Given the description of an element on the screen output the (x, y) to click on. 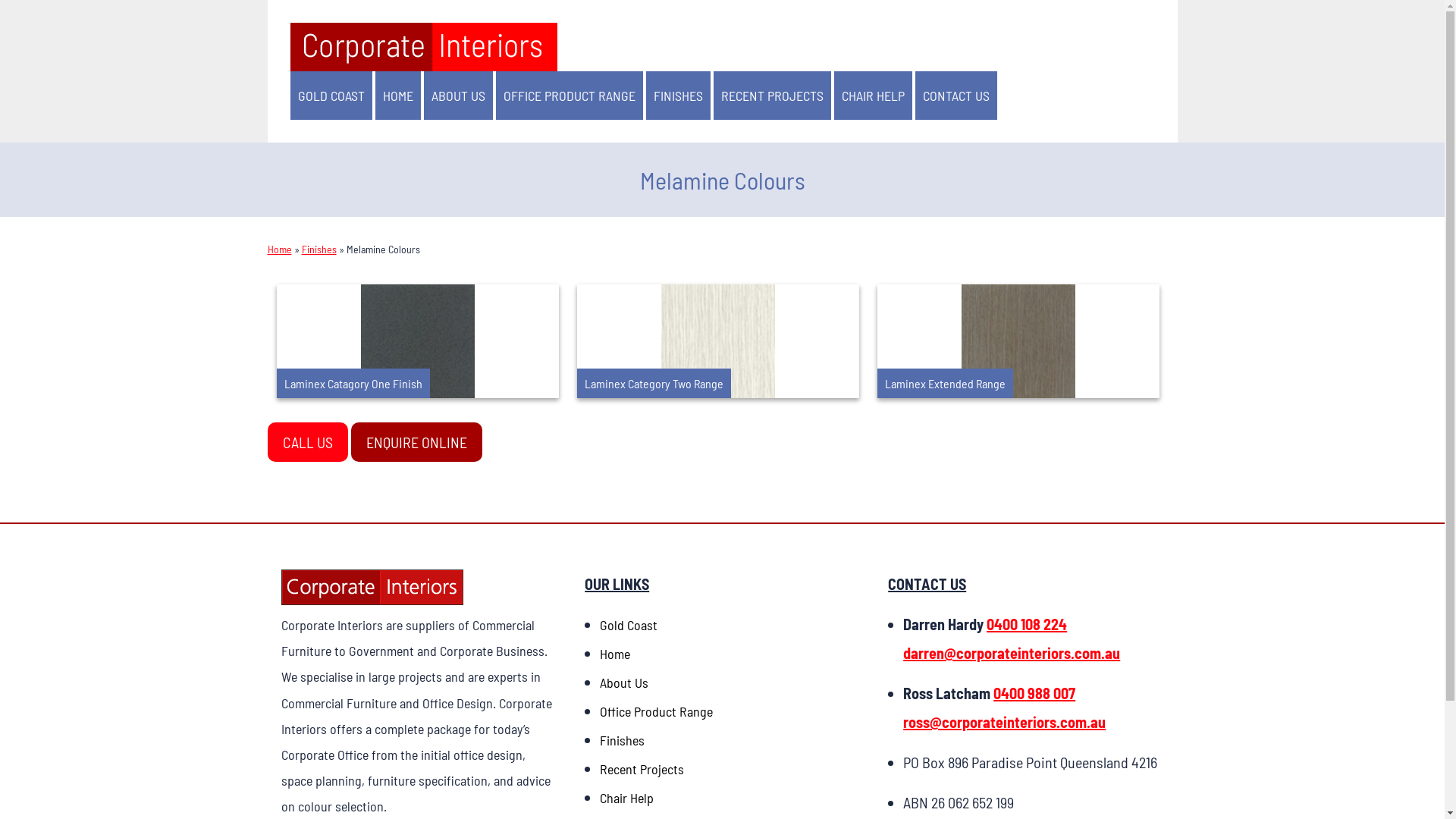
ABOUT US Element type: text (457, 95)
Laminex Category Two Range Element type: text (717, 341)
0400 988 007 Element type: text (1034, 693)
CHAIR HELP Element type: text (873, 95)
darren@corporateinteriors.com.au Element type: text (1011, 652)
Office Product Range Element type: text (655, 710)
Chair Help Element type: text (626, 797)
RECENT PROJECTS Element type: text (771, 95)
OFFICE PRODUCT RANGE Element type: text (569, 95)
CONTACT US Element type: text (955, 95)
Finishes Element type: text (318, 248)
FINISHES Element type: text (678, 95)
GOLD COAST Element type: text (330, 95)
Home Element type: text (614, 653)
Finishes Element type: text (621, 739)
Recent Projects Element type: text (641, 768)
Laminex Catagory One Finish Element type: text (417, 341)
About Us Element type: text (623, 682)
HOME Element type: text (397, 95)
CALL US Element type: text (306, 441)
ENQUIRE ONLINE Element type: text (415, 441)
Laminex Extended Range Element type: text (1017, 341)
0400 108 224 Element type: text (1026, 624)
Home Element type: text (278, 248)
Gold Coast Element type: text (628, 624)
ross@corporateinteriors.com.au Element type: text (1004, 721)
